Given the description of an element on the screen output the (x, y) to click on. 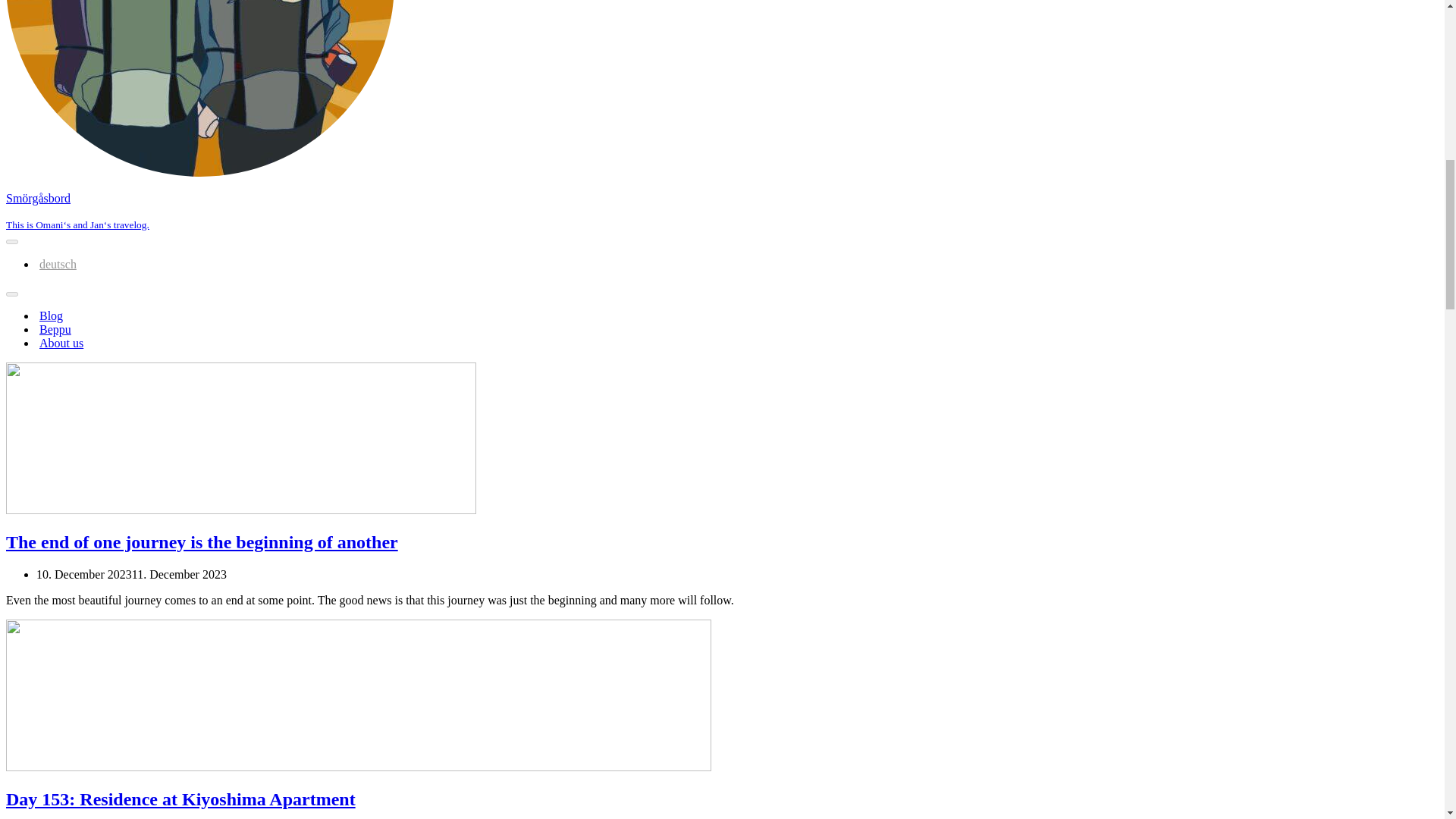
Day 153: Residence at Kiyoshima Apartment (180, 799)
Navigation Menu (11, 241)
Navigation Menu (11, 293)
About us (60, 343)
Blog (50, 315)
The end of one journey is the beginning of another (240, 509)
Day 153: Residence at Kiyoshima Apartment (358, 766)
deutsch (58, 264)
Beppu (55, 329)
The end of one journey is the beginning of another (201, 542)
